Given the description of an element on the screen output the (x, y) to click on. 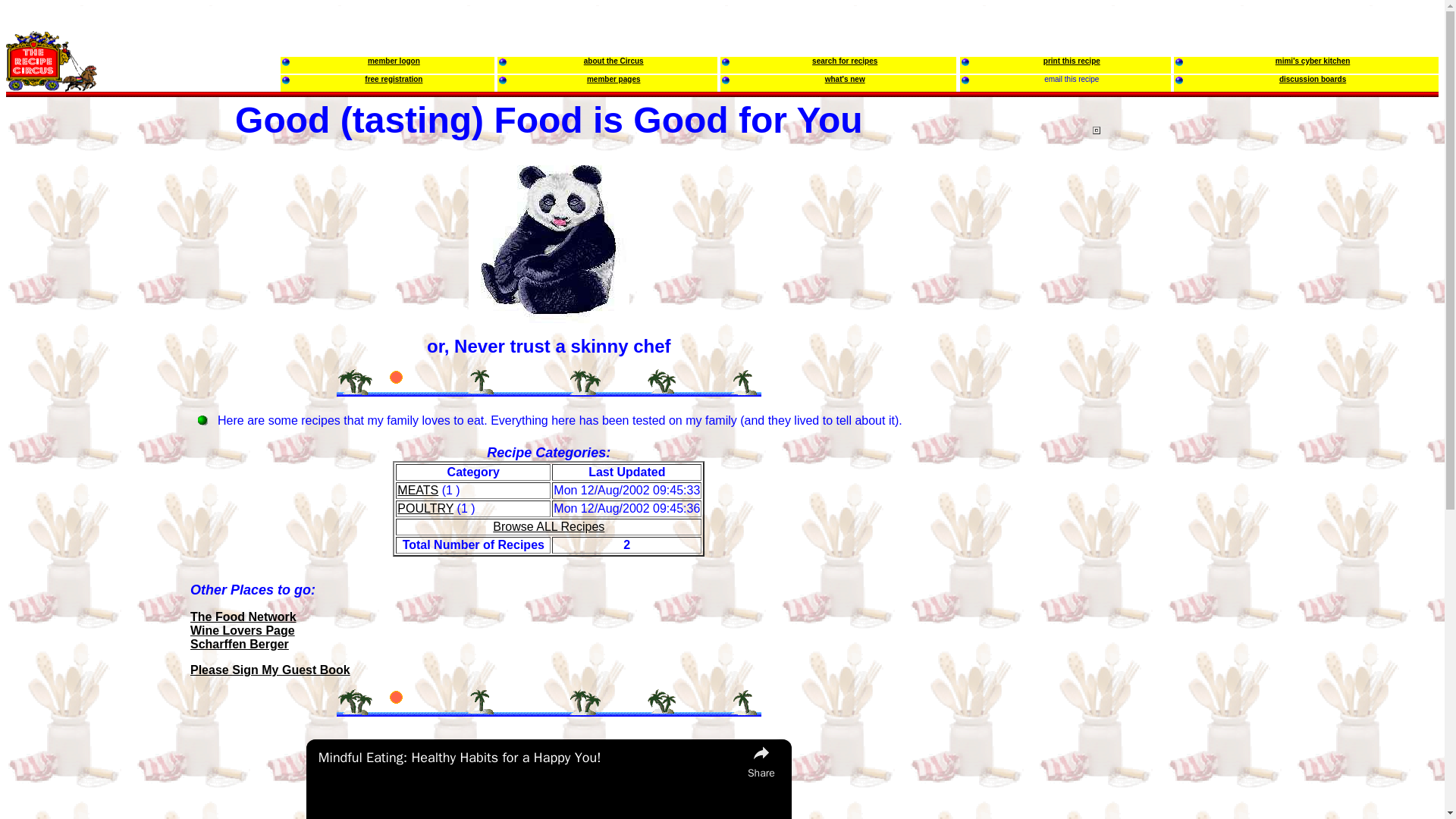
discussion boards (1312, 77)
member logon (394, 59)
The Food Network (243, 616)
Please Sign My Guest Book (270, 669)
Wine Lovers Page (242, 630)
Mindful Eating: Healthy Habits for a Happy You! (528, 757)
POULTRY (424, 508)
mimi's cyber kitchen (1313, 59)
member pages (613, 77)
Scharffen Berger (239, 644)
about the Circus (613, 59)
what's new (844, 77)
MEATS (417, 490)
search for recipes (844, 59)
Browse ALL Recipes (548, 526)
